Given the description of an element on the screen output the (x, y) to click on. 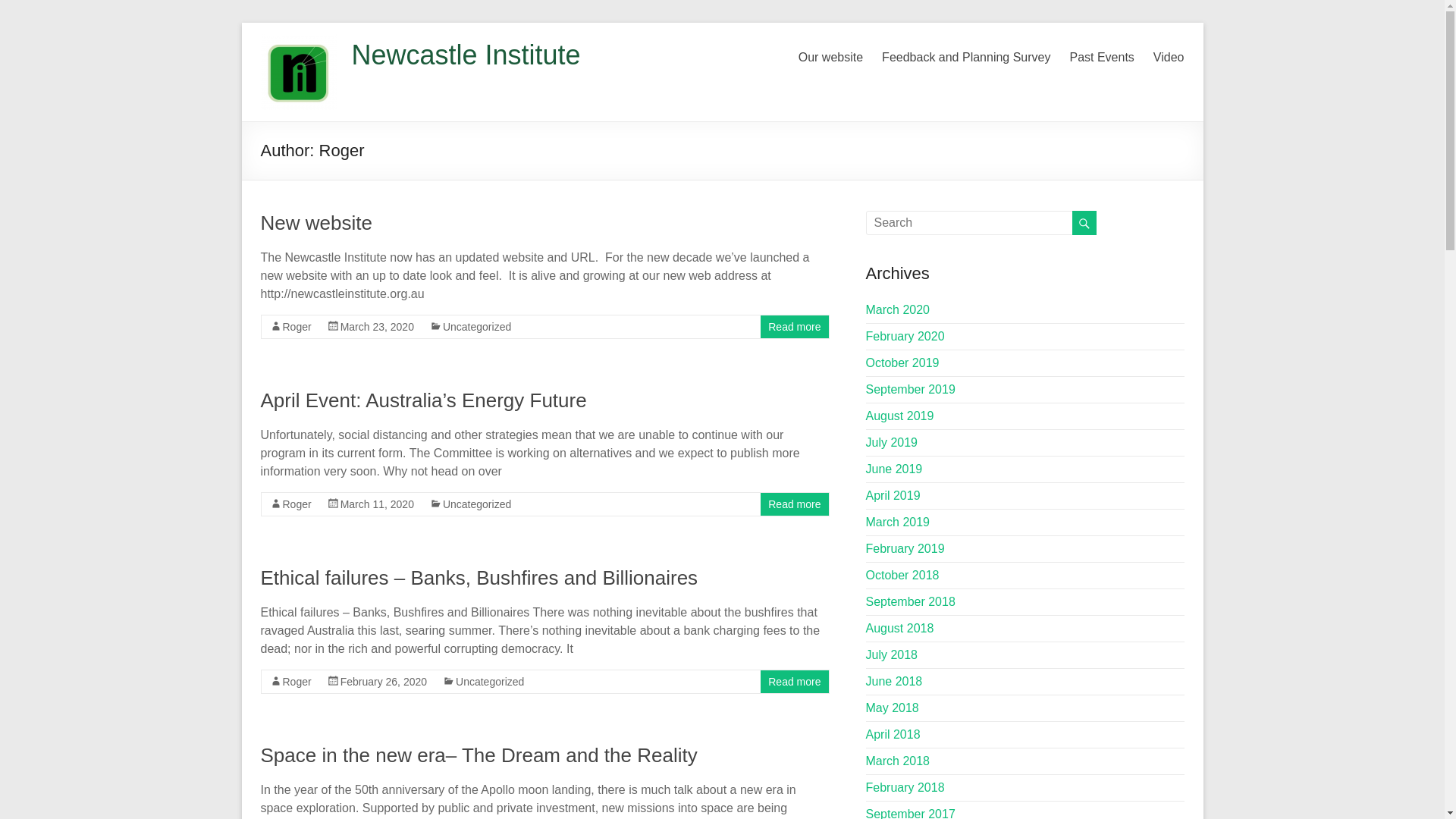
February 2020 Element type: text (905, 335)
April 2018 Element type: text (893, 734)
March 2018 Element type: text (898, 760)
Read more Element type: text (794, 326)
July 2018 Element type: text (892, 654)
March 11, 2020 Element type: text (377, 504)
February 2018 Element type: text (905, 787)
September 2019 Element type: text (910, 388)
Uncategorized Element type: text (476, 504)
July 2019 Element type: text (892, 442)
Uncategorized Element type: text (476, 326)
May 2018 Element type: text (892, 707)
August 2019 Element type: text (900, 415)
Video Element type: text (1168, 54)
June 2019 Element type: text (894, 468)
October 2019 Element type: text (902, 362)
Roger Element type: text (296, 326)
June 2018 Element type: text (894, 680)
March 23, 2020 Element type: text (377, 326)
Feedback and Planning Survey Element type: text (965, 54)
February 2019 Element type: text (905, 548)
Past Events Element type: text (1101, 54)
New website Element type: text (316, 222)
Read more Element type: text (794, 681)
September 2018 Element type: text (910, 601)
March 2020 Element type: text (898, 309)
Read more Element type: text (794, 504)
Uncategorized Element type: text (489, 681)
March 2019 Element type: text (898, 521)
Roger Element type: text (296, 681)
Our website Element type: text (830, 54)
Roger Element type: text (296, 504)
October 2018 Element type: text (902, 574)
February 26, 2020 Element type: text (383, 681)
August 2018 Element type: text (900, 627)
April 2019 Element type: text (893, 495)
Newcastle Institute Element type: text (465, 54)
